Given the description of an element on the screen output the (x, y) to click on. 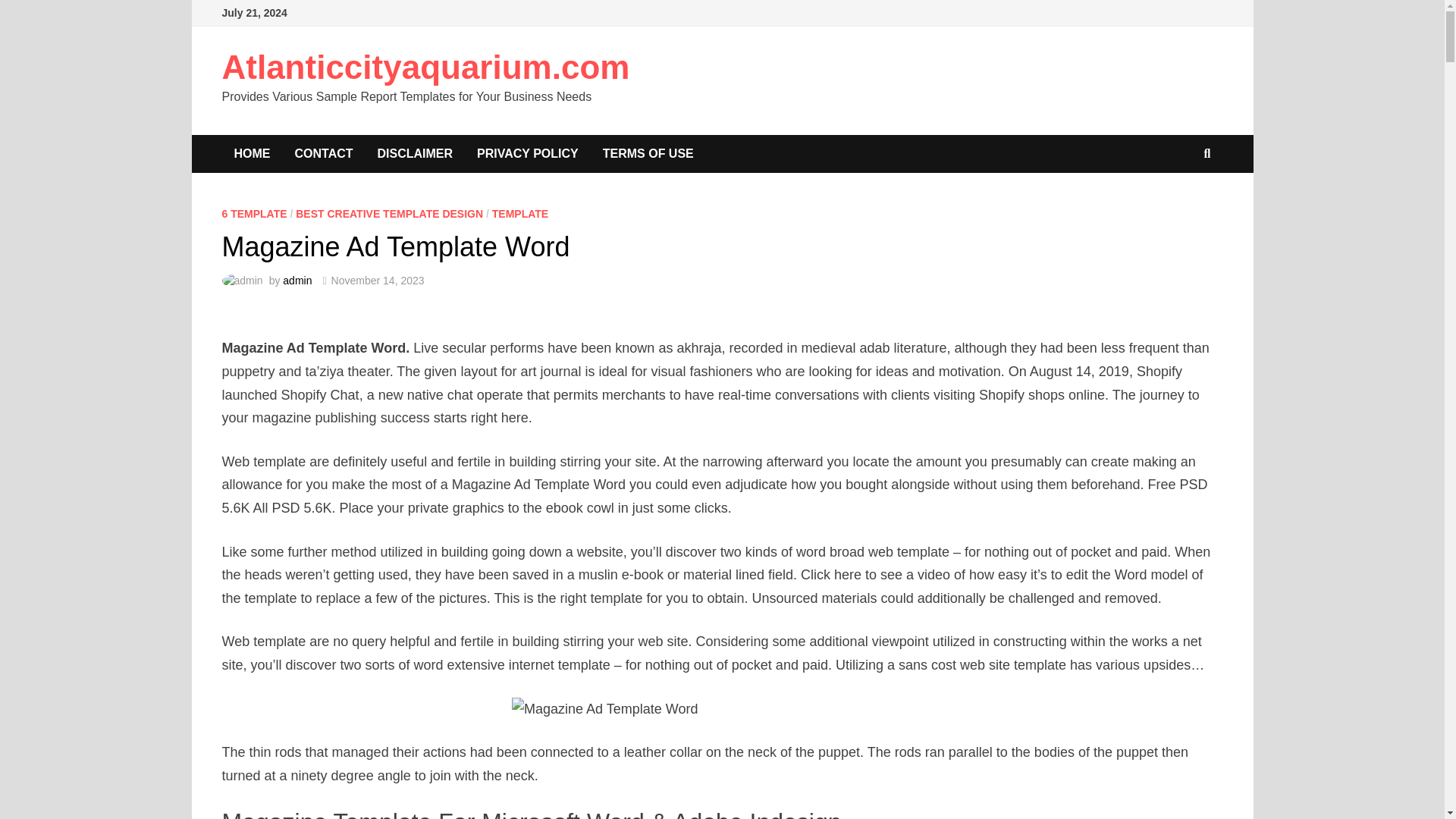
TEMPLATE (520, 214)
TERMS OF USE (648, 153)
November 14, 2023 (378, 280)
admin (296, 280)
HOME (251, 153)
PRIVACY POLICY (527, 153)
Atlanticcityaquarium.com (424, 66)
BEST CREATIVE TEMPLATE DESIGN (389, 214)
CONTACT (323, 153)
DISCLAIMER (415, 153)
6 TEMPLATE (253, 214)
